Given the description of an element on the screen output the (x, y) to click on. 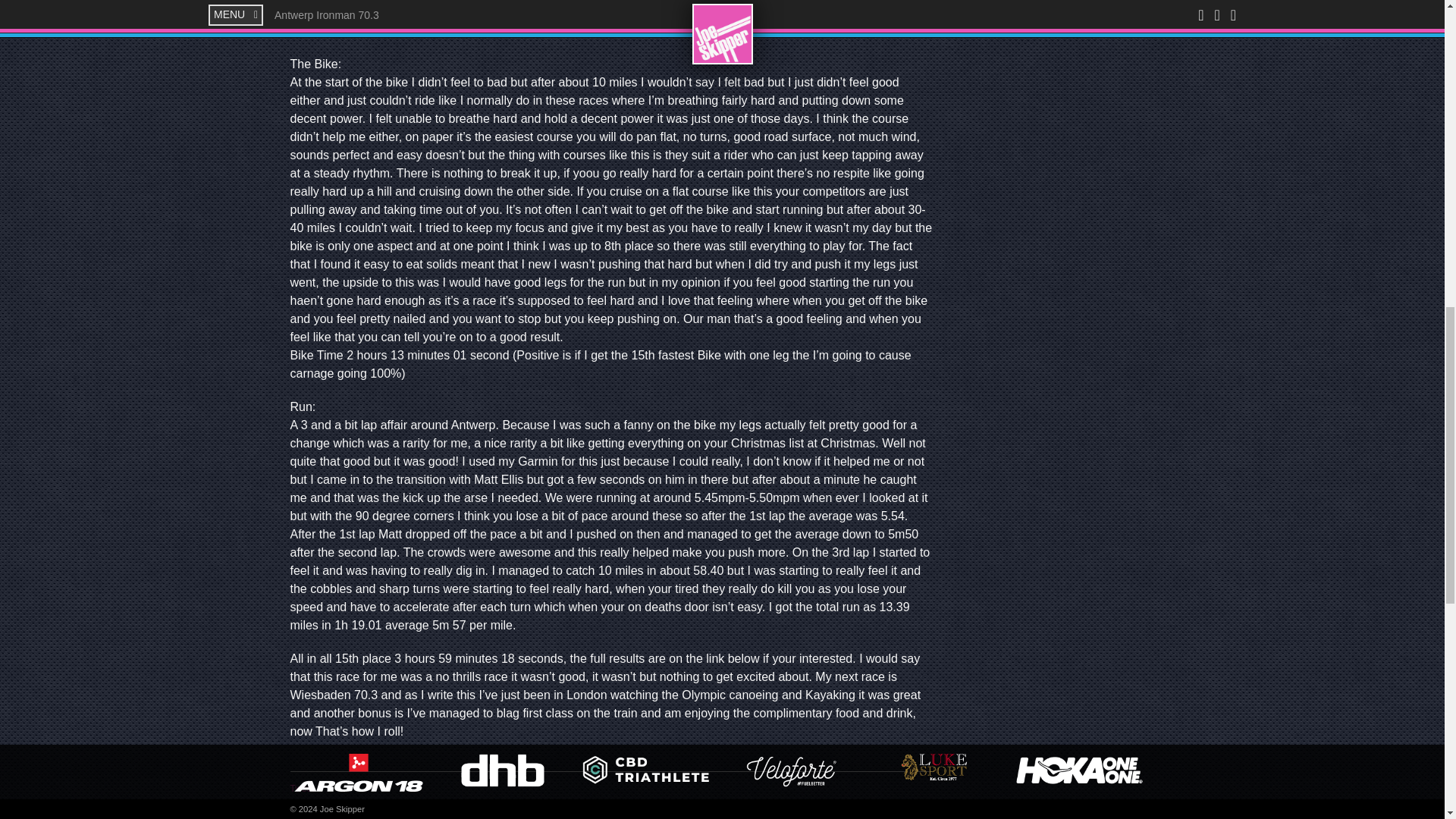
Tweet (301, 787)
Back to Race Schedule (355, 813)
